Given the description of an element on the screen output the (x, y) to click on. 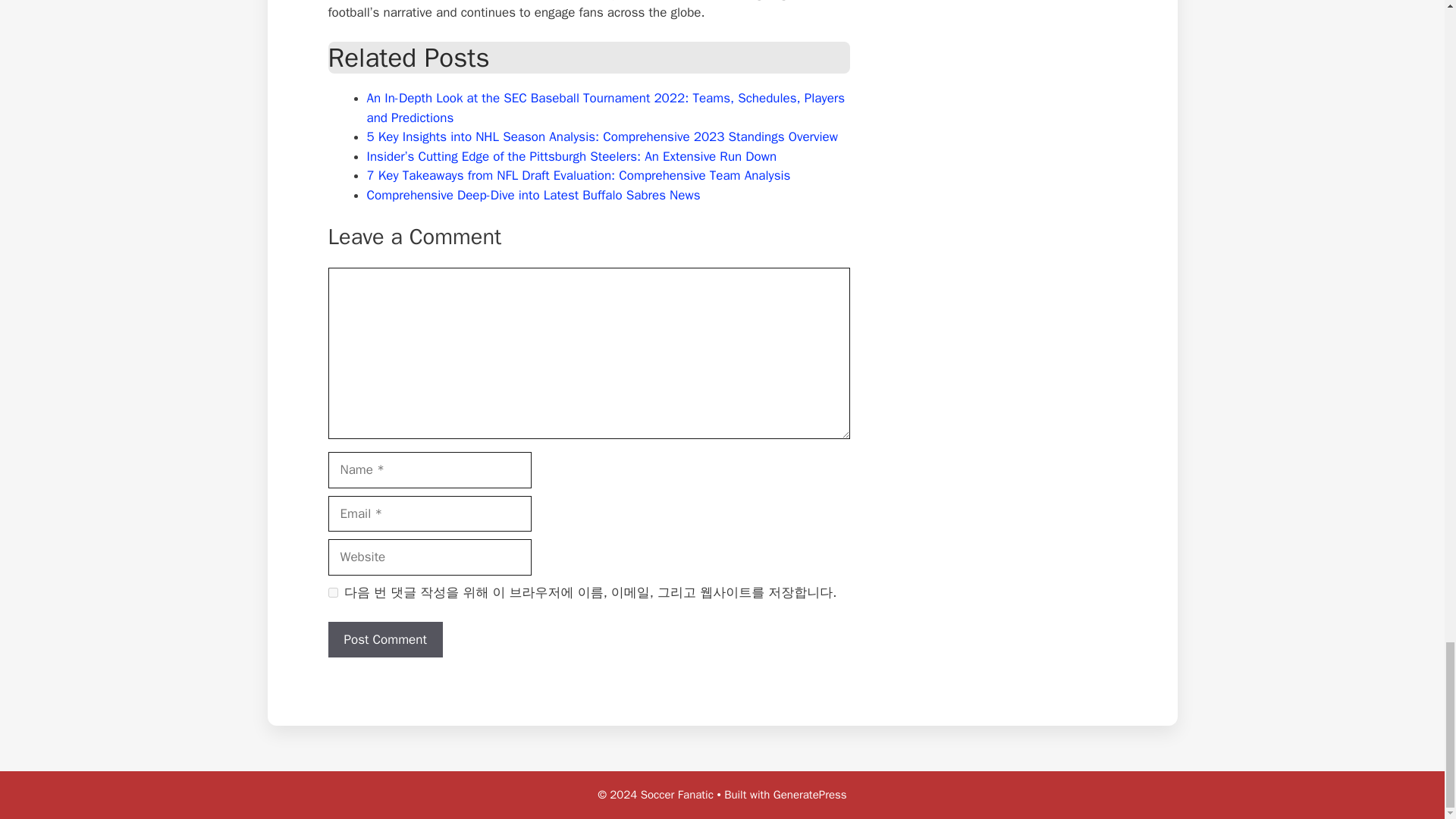
Post Comment (384, 639)
Post Comment (384, 639)
yes (332, 592)
Comprehensive Deep-Dive into Latest Buffalo Sabres News (533, 195)
